Given the description of an element on the screen output the (x, y) to click on. 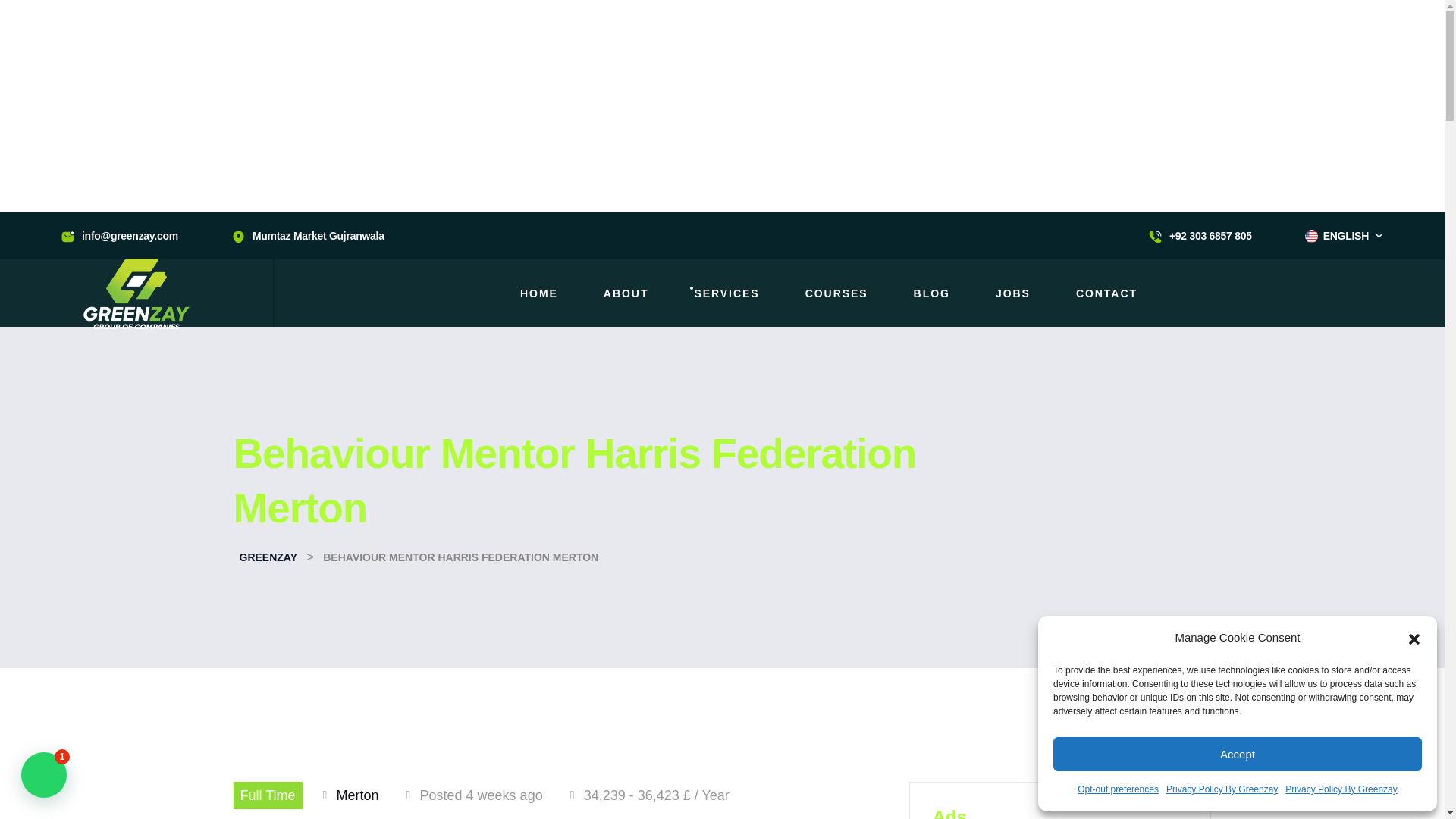
Go to Greenzay. (268, 557)
ENGLISH (1344, 235)
Privacy Policy By Greenzay (1340, 789)
COURSES (836, 292)
Opt-out preferences (1117, 789)
Privacy Policy By Greenzay (1222, 789)
CONTACT (1106, 292)
SERVICES (726, 292)
Accept (1237, 754)
